Given the description of an element on the screen output the (x, y) to click on. 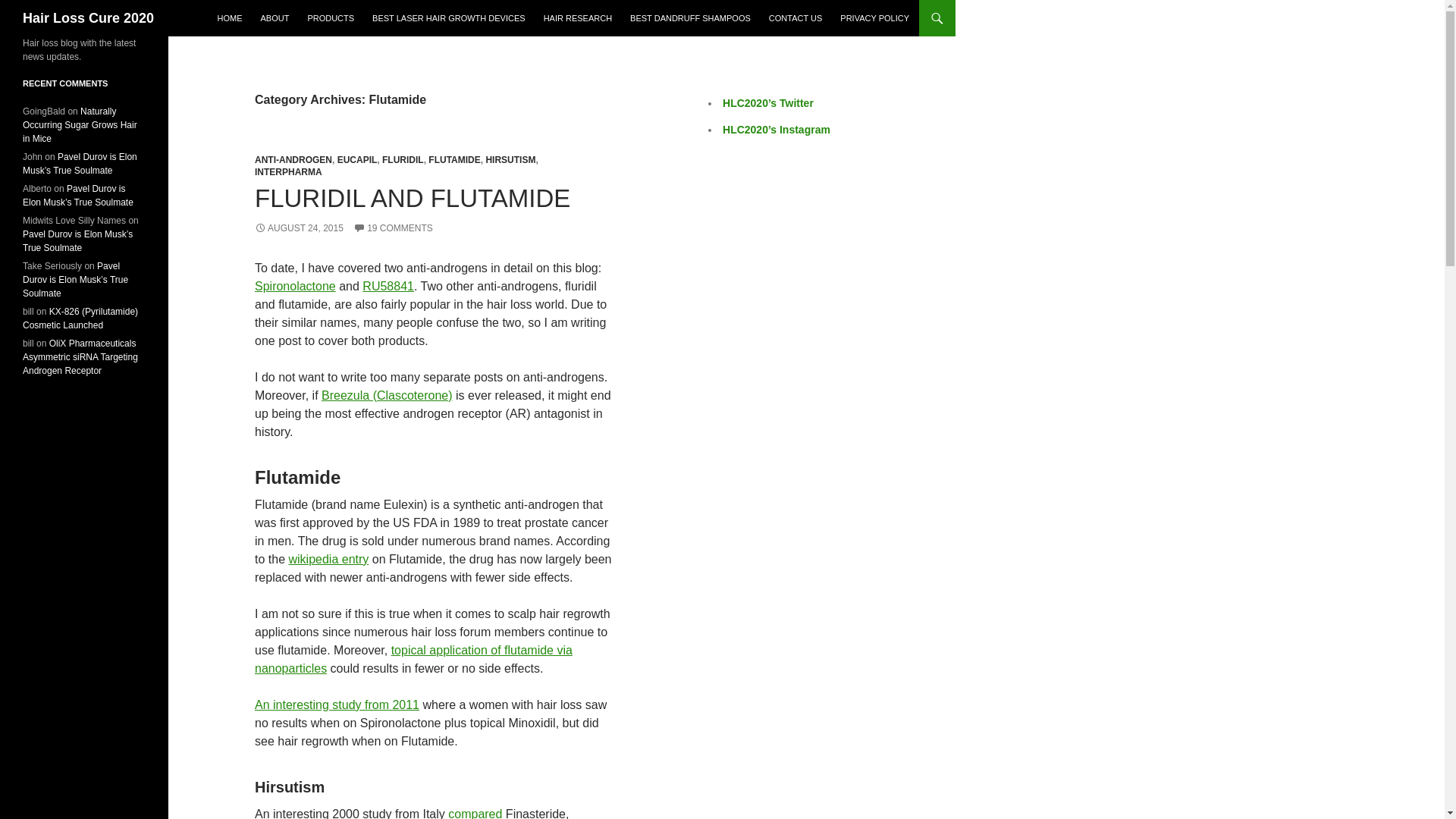
BEST LASER HAIR GROWTH DEVICES (448, 18)
FLURIDIL (402, 159)
topical application of flutamide via nanoparticles (413, 658)
BEST DANDRUFF SHAMPOOS (690, 18)
compared (475, 813)
HIRSUTISM (509, 159)
FLUTAMIDE (454, 159)
PRODUCTS (330, 18)
PRIVACY POLICY (874, 18)
